Given the description of an element on the screen output the (x, y) to click on. 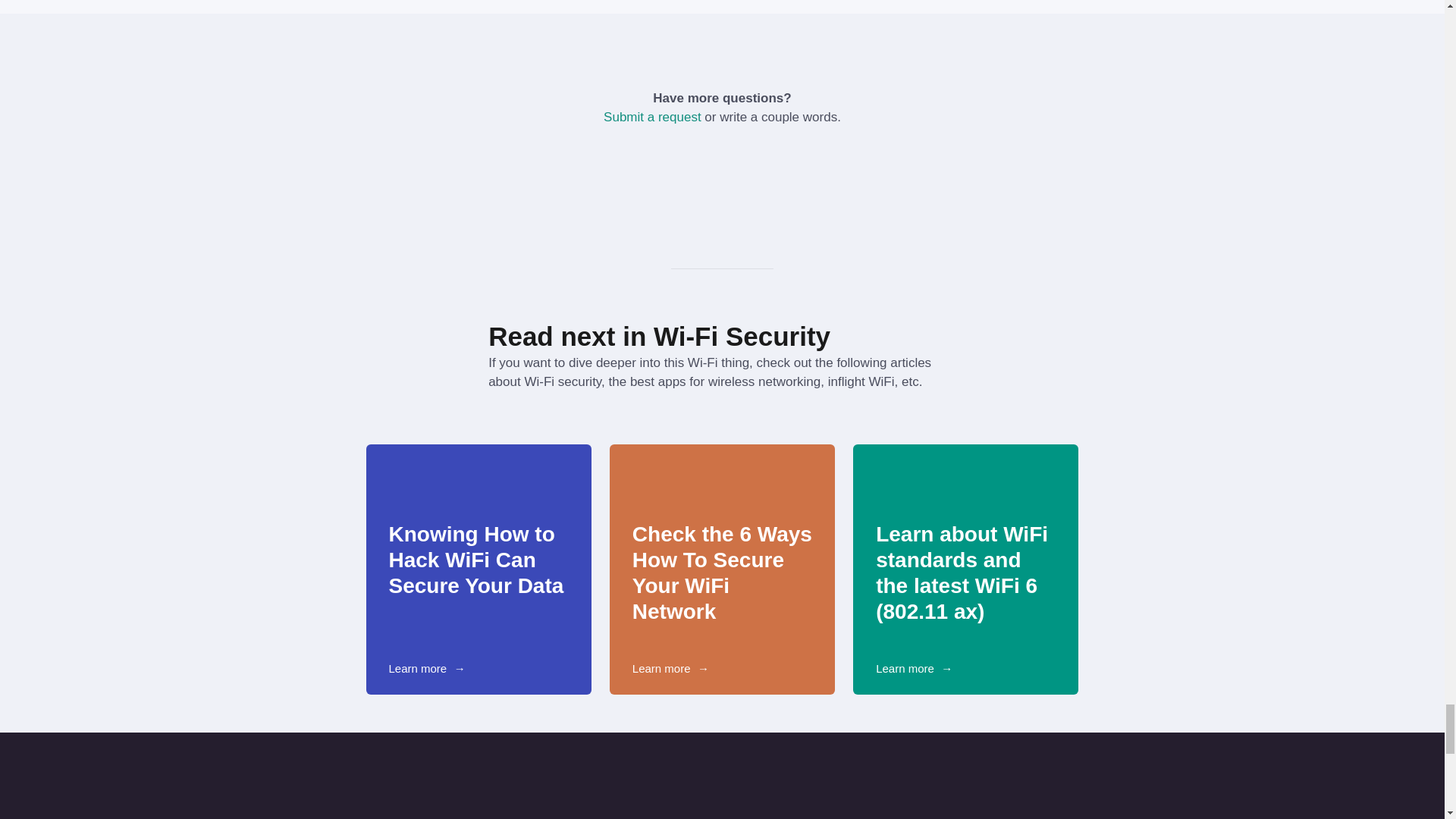
twitter (735, 162)
Knowing How to Hack WiFi Can Secure Your Data (477, 559)
Learn more (905, 668)
Check the 6 Ways How To Secure Your WiFi Network (721, 572)
Submit a request (652, 116)
Learn more (417, 668)
Learn more (660, 668)
